Given the description of an element on the screen output the (x, y) to click on. 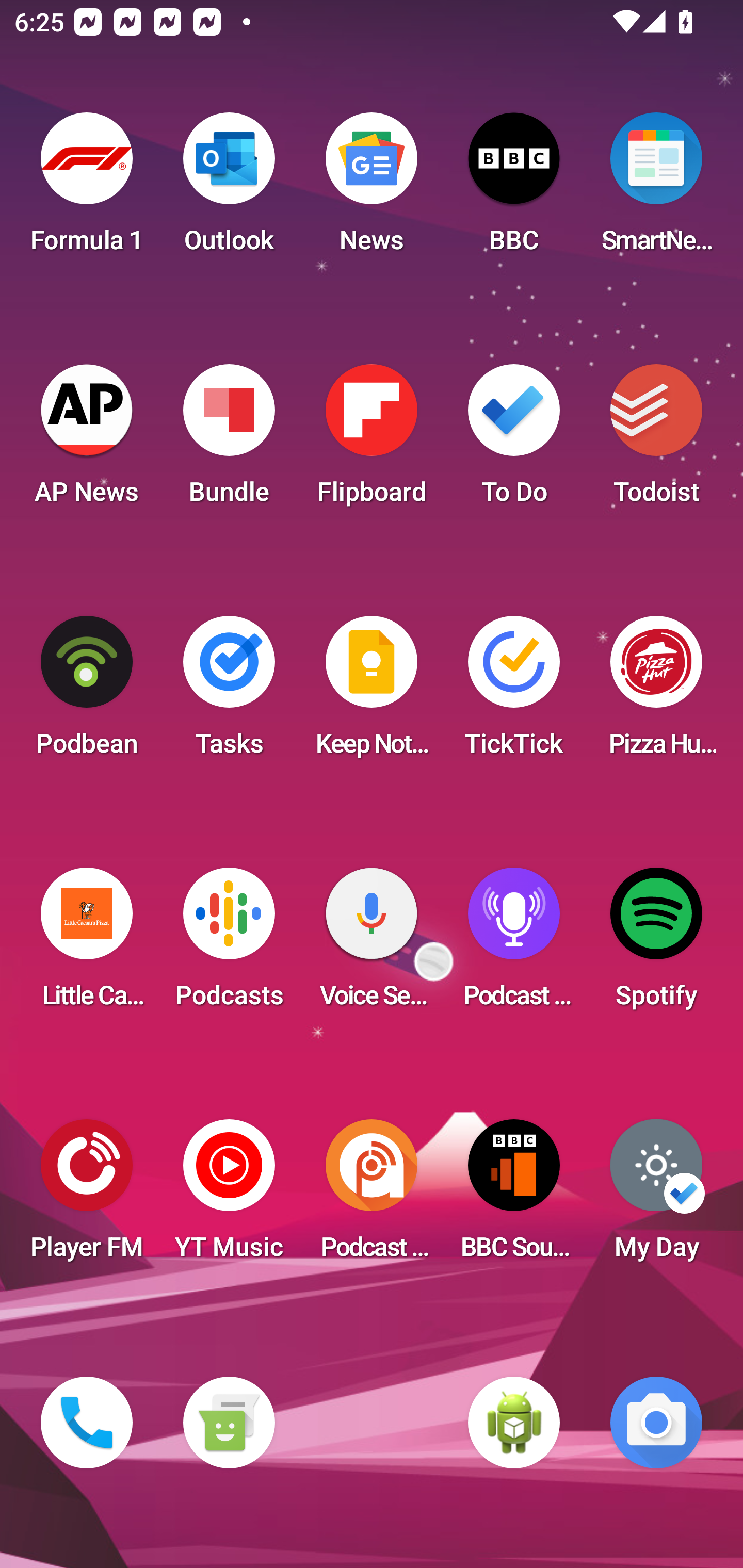
Formula 1 (86, 188)
Outlook (228, 188)
News (371, 188)
BBC (513, 188)
SmartNews (656, 188)
AP News (86, 440)
Bundle (228, 440)
Flipboard (371, 440)
To Do (513, 440)
Todoist (656, 440)
Podbean (86, 692)
Tasks (228, 692)
Keep Notes (371, 692)
TickTick (513, 692)
Pizza Hut HK & Macau (656, 692)
Little Caesars Pizza (86, 943)
Podcasts (228, 943)
Voice Search (371, 943)
Podcast Player (513, 943)
Spotify (656, 943)
Player FM (86, 1195)
YT Music (228, 1195)
Podcast Addict (371, 1195)
BBC Sounds (513, 1195)
My Day (656, 1195)
Phone (86, 1422)
Messaging (228, 1422)
WebView Browser Tester (513, 1422)
Camera (656, 1422)
